Given the description of an element on the screen output the (x, y) to click on. 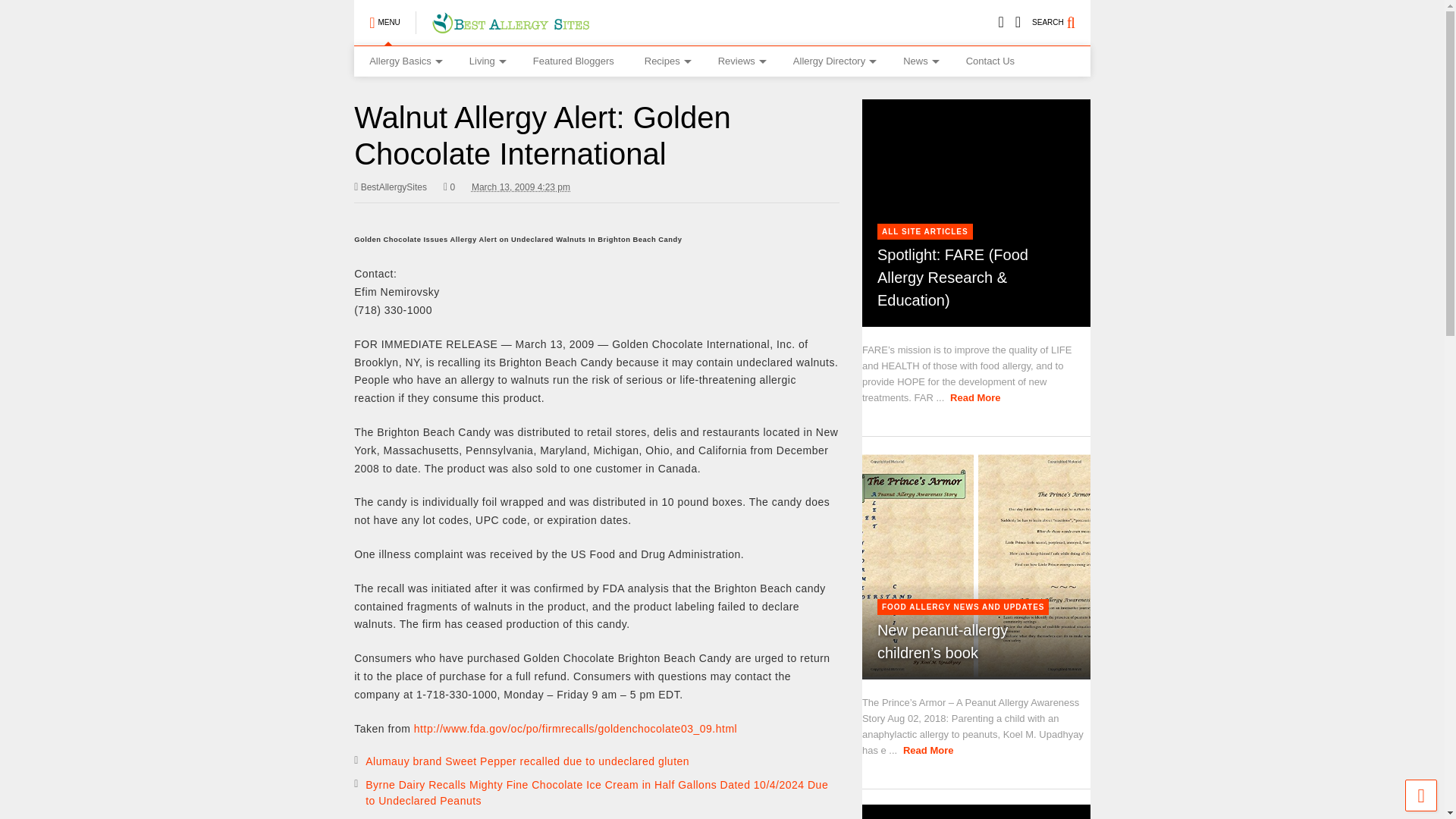
Reviews (740, 60)
Allergy Directory (832, 60)
Featured Bloggers (573, 60)
SEARCH (1061, 22)
Living (486, 60)
Best Allergy Sites (509, 26)
Contact Us (989, 60)
BAS Recipes (665, 60)
MENU (383, 22)
Allergy Basics (403, 60)
Allergy Basics (403, 60)
Recipes (665, 60)
News (919, 60)
